Given the description of an element on the screen output the (x, y) to click on. 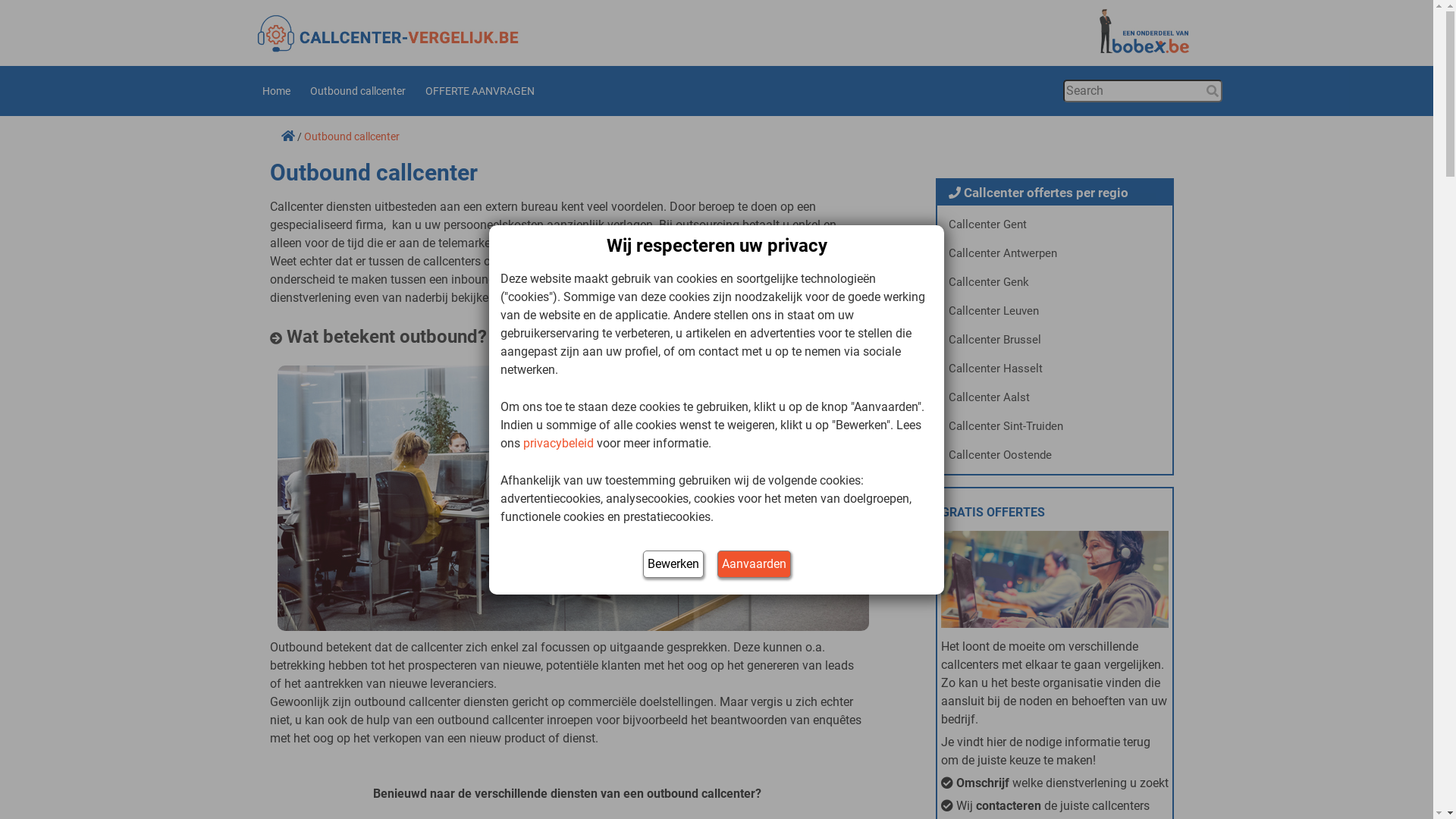
Callcenter Antwerpen Element type: text (1054, 252)
Callcenter Leuven Element type: text (1054, 310)
privacybeleid Element type: text (558, 442)
Callcenter Sint-Truiden Element type: text (1054, 425)
Outbound callcenter Element type: text (357, 90)
Callcenter Aalst Element type: text (1054, 396)
Callcenter Oostende Element type: text (1054, 454)
Home Element type: text (275, 90)
Bewerken Element type: text (673, 563)
Aanvaarden Element type: text (753, 563)
OFFERTE AANVRAGEN Element type: text (479, 90)
Callcenter Hasselt Element type: text (1054, 368)
Callcenter Gent Element type: text (1054, 224)
Callcenter Brussel Element type: text (1054, 339)
Callcenter Genk Element type: text (1054, 281)
